Given the description of an element on the screen output the (x, y) to click on. 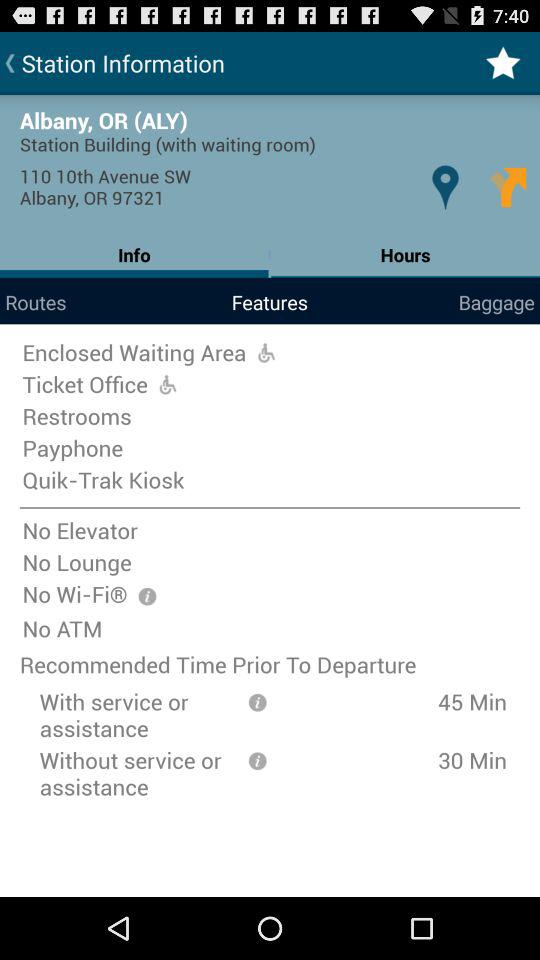
info (257, 759)
